Given the description of an element on the screen output the (x, y) to click on. 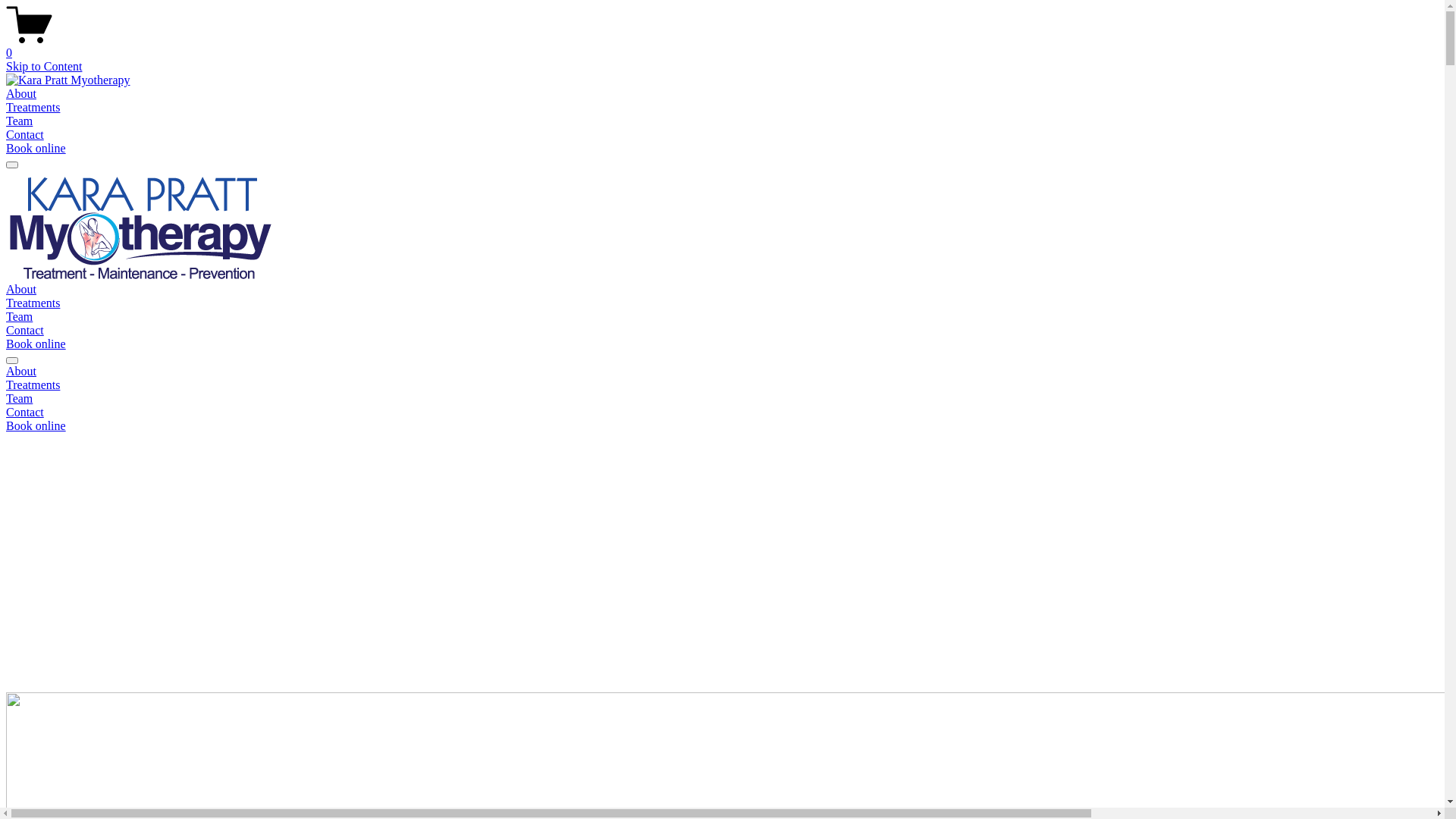
Team Element type: text (19, 316)
About Element type: text (21, 93)
Book online Element type: text (35, 147)
Book online Element type: text (35, 343)
Contact Element type: text (722, 412)
Treatments Element type: text (32, 106)
0 Element type: text (722, 45)
Team Element type: text (722, 398)
Contact Element type: text (24, 329)
Contact Element type: text (24, 134)
Team Element type: text (19, 120)
Treatments Element type: text (722, 385)
Book online Element type: text (35, 425)
Skip to Content Element type: text (43, 65)
About Element type: text (722, 371)
About Element type: text (21, 288)
Treatments Element type: text (32, 302)
